Given the description of an element on the screen output the (x, y) to click on. 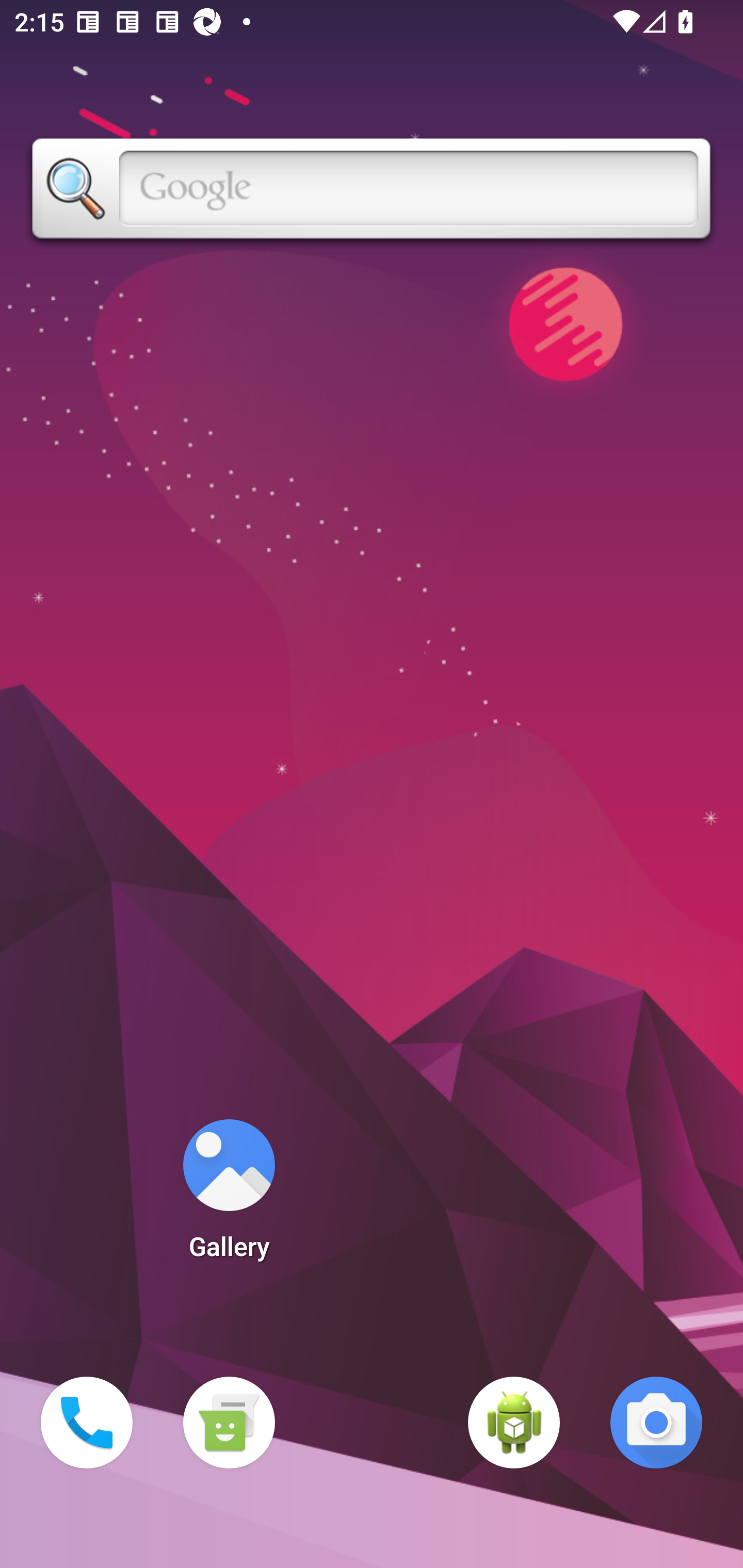
Gallery (228, 1195)
Phone (86, 1422)
Messaging (228, 1422)
WebView Browser Tester (513, 1422)
Camera (656, 1422)
